Given the description of an element on the screen output the (x, y) to click on. 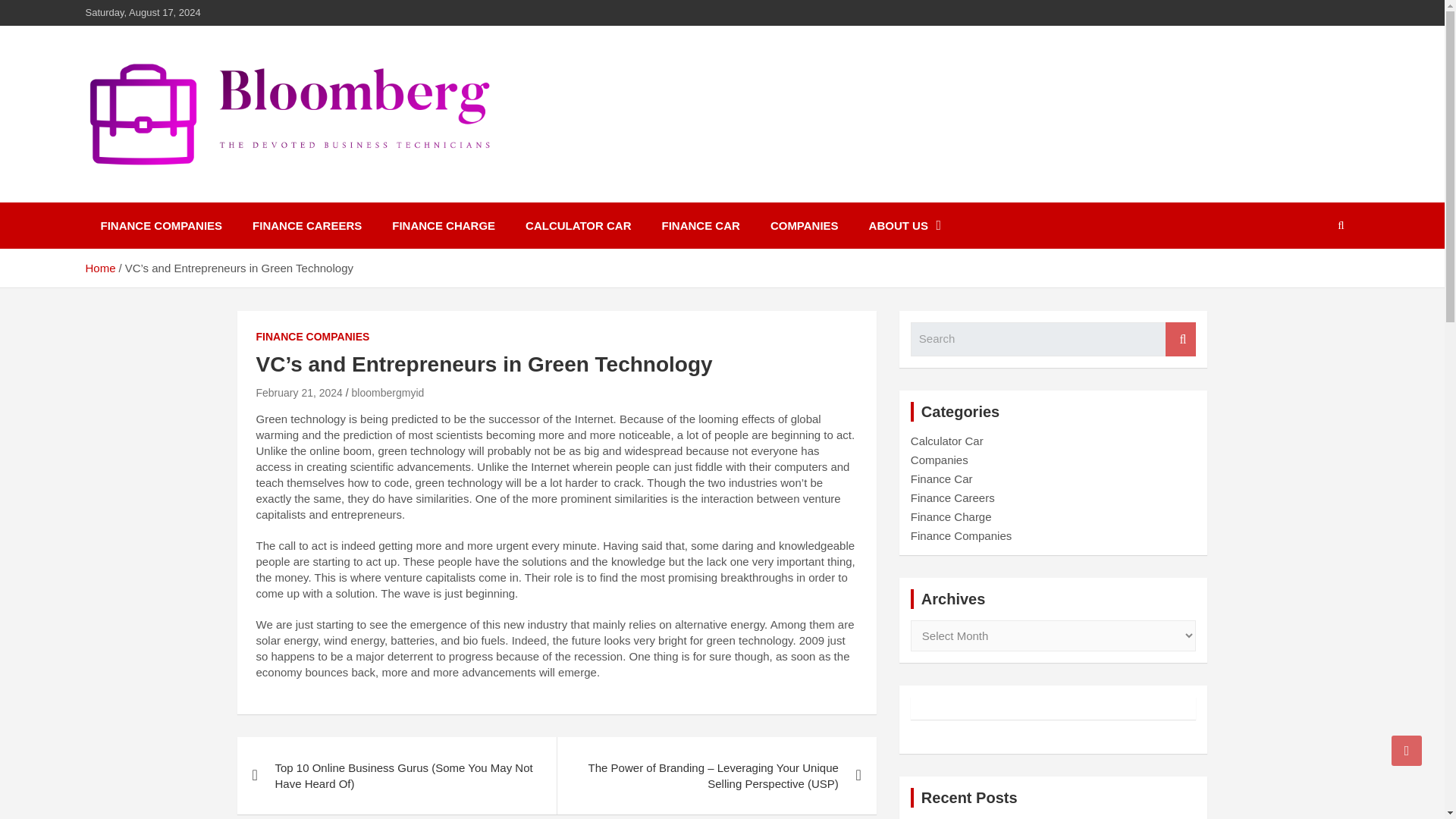
Finance Companies (961, 535)
Finance Car (941, 478)
Home (99, 267)
FINANCE COMPANIES (160, 225)
Calculator Car (947, 440)
Companies (939, 459)
COMPANIES (804, 225)
February 21, 2024 (299, 392)
FINANCE CAREERS (307, 225)
Go to Top (1406, 750)
